Given the description of an element on the screen output the (x, y) to click on. 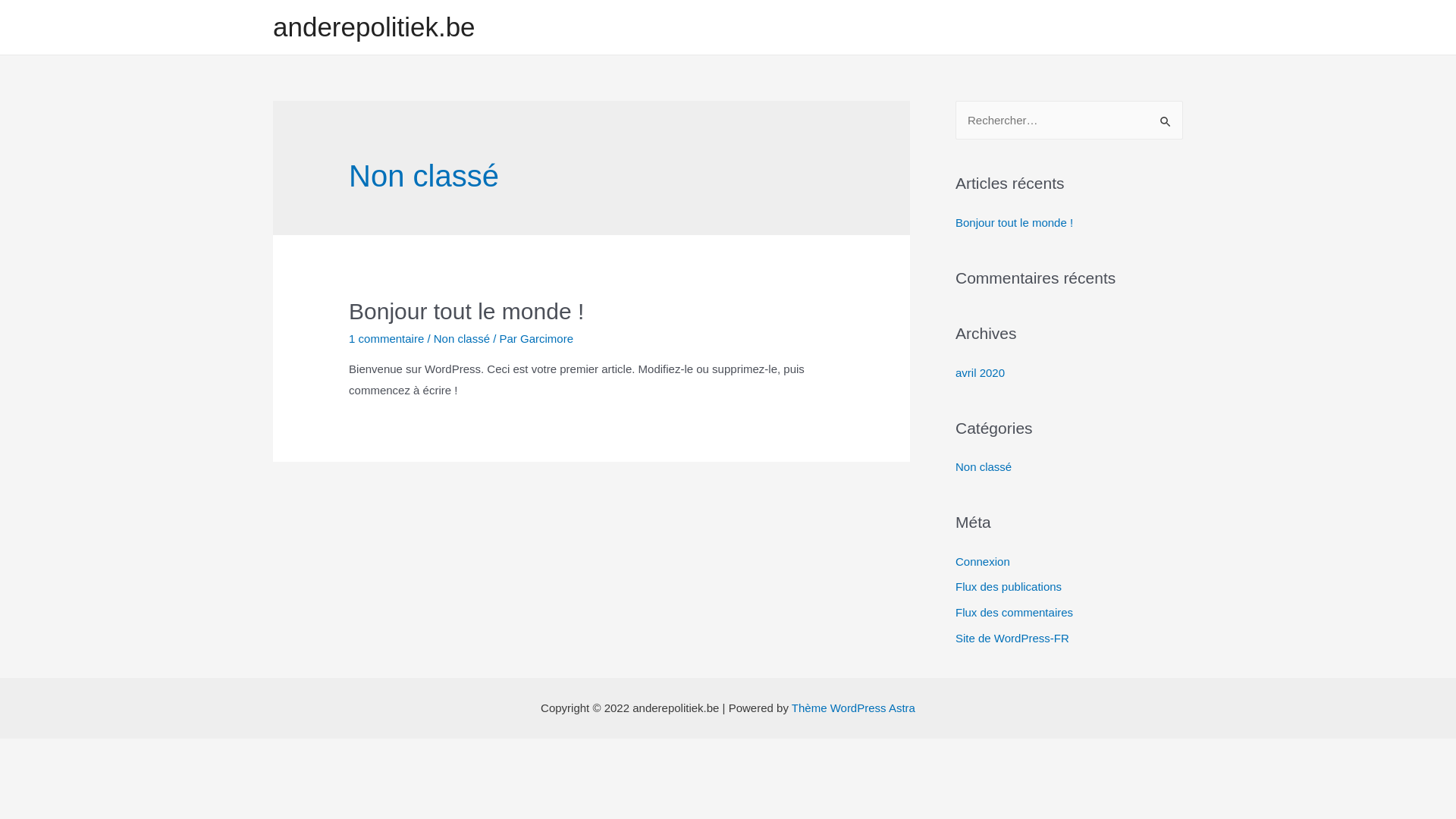
Bonjour tout le monde ! Element type: text (465, 310)
1 commentaire Element type: text (385, 338)
Bonjour tout le monde ! Element type: text (1014, 221)
Rechercher Element type: text (1165, 115)
avril 2020 Element type: text (979, 371)
anderepolitiek.be Element type: text (374, 26)
Flux des commentaires Element type: text (1014, 611)
Connexion Element type: text (982, 561)
Flux des publications Element type: text (1008, 586)
Garcimore Element type: text (546, 338)
Site de WordPress-FR Element type: text (1012, 637)
